Given the description of an element on the screen output the (x, y) to click on. 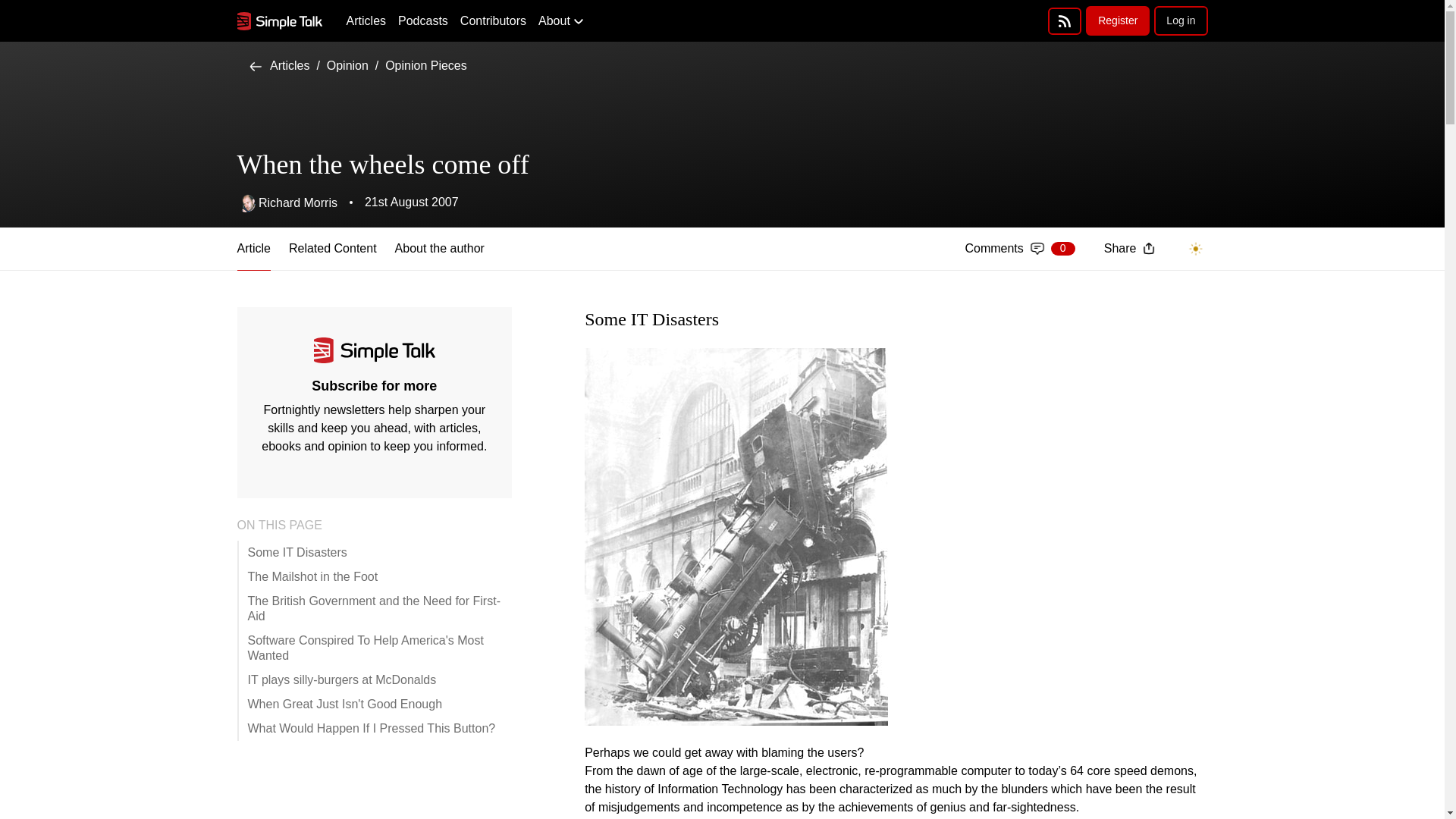
About (560, 21)
Richard Morris (285, 202)
Articles (1018, 248)
Register (278, 65)
Log in (1118, 20)
Articles (1180, 20)
Opinion Pieces (365, 21)
Podcasts (426, 65)
Opinion (422, 21)
Simple Talk RSS feed (347, 65)
Related Content (1064, 21)
Share (332, 248)
Contributors (1128, 248)
About the author (492, 21)
